Given the description of an element on the screen output the (x, y) to click on. 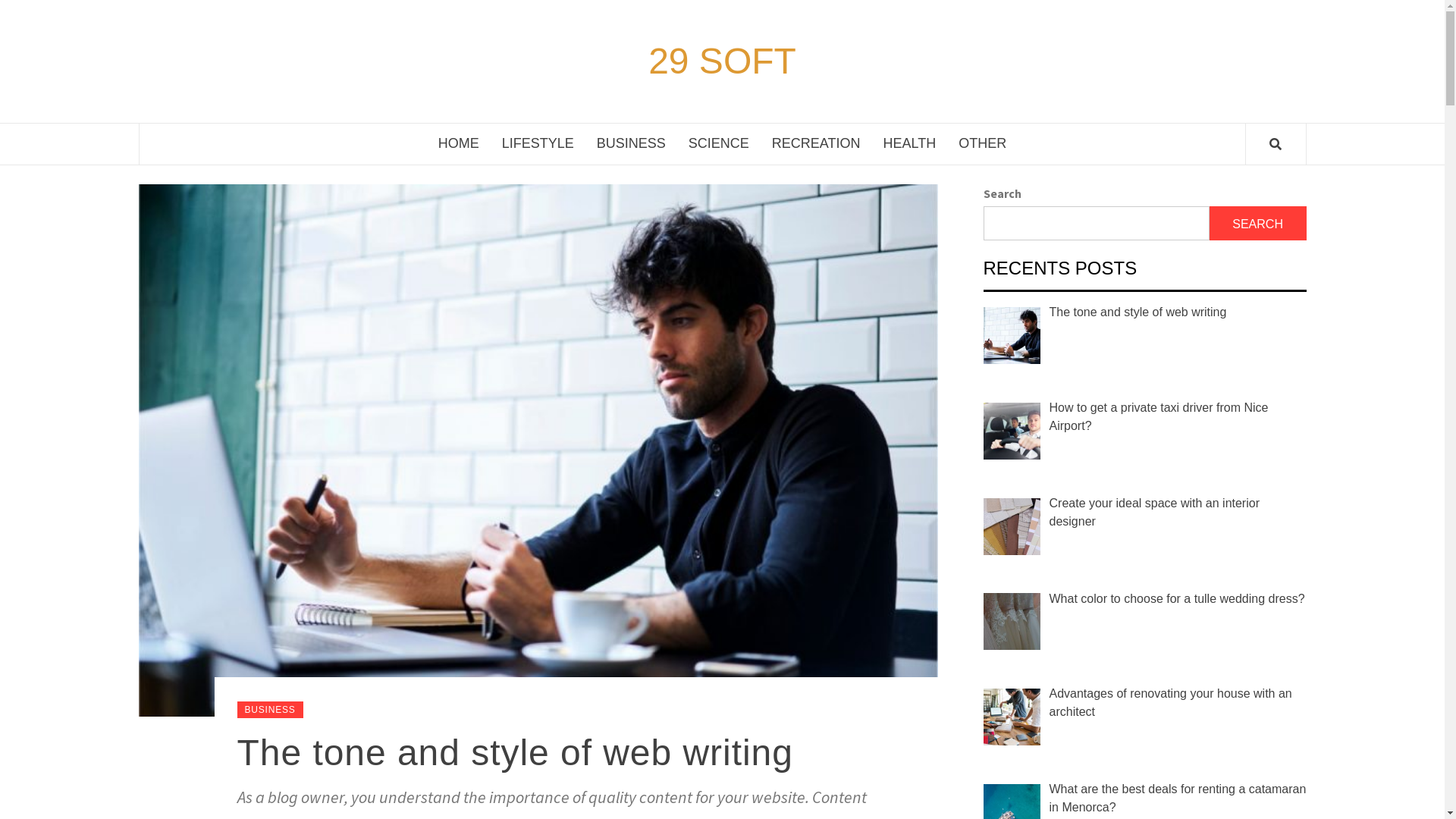
LIFESTYLE Element type: text (537, 143)
The tone and style of web writing Element type: text (1137, 311)
What are the best deals for renting a catamaran in Menorca? Element type: text (1177, 797)
OTHER Element type: text (982, 143)
29 SOFT Element type: text (722, 60)
What color to choose for a tulle wedding dress? Element type: text (1177, 598)
BUSINESS Element type: text (269, 709)
The tone and style of web writing Element type: text (514, 752)
BUSINESS Element type: text (631, 143)
SCIENCE Element type: text (718, 143)
RECREATION Element type: text (816, 143)
HEALTH Element type: text (909, 143)
SEARCH Element type: text (1257, 223)
How to get a private taxi driver from Nice Airport? Element type: text (1158, 416)
Advantages of renovating your house with an architect Element type: text (1170, 702)
Create your ideal space with an interior designer Element type: text (1154, 511)
HOME Element type: text (458, 143)
